Given the description of an element on the screen output the (x, y) to click on. 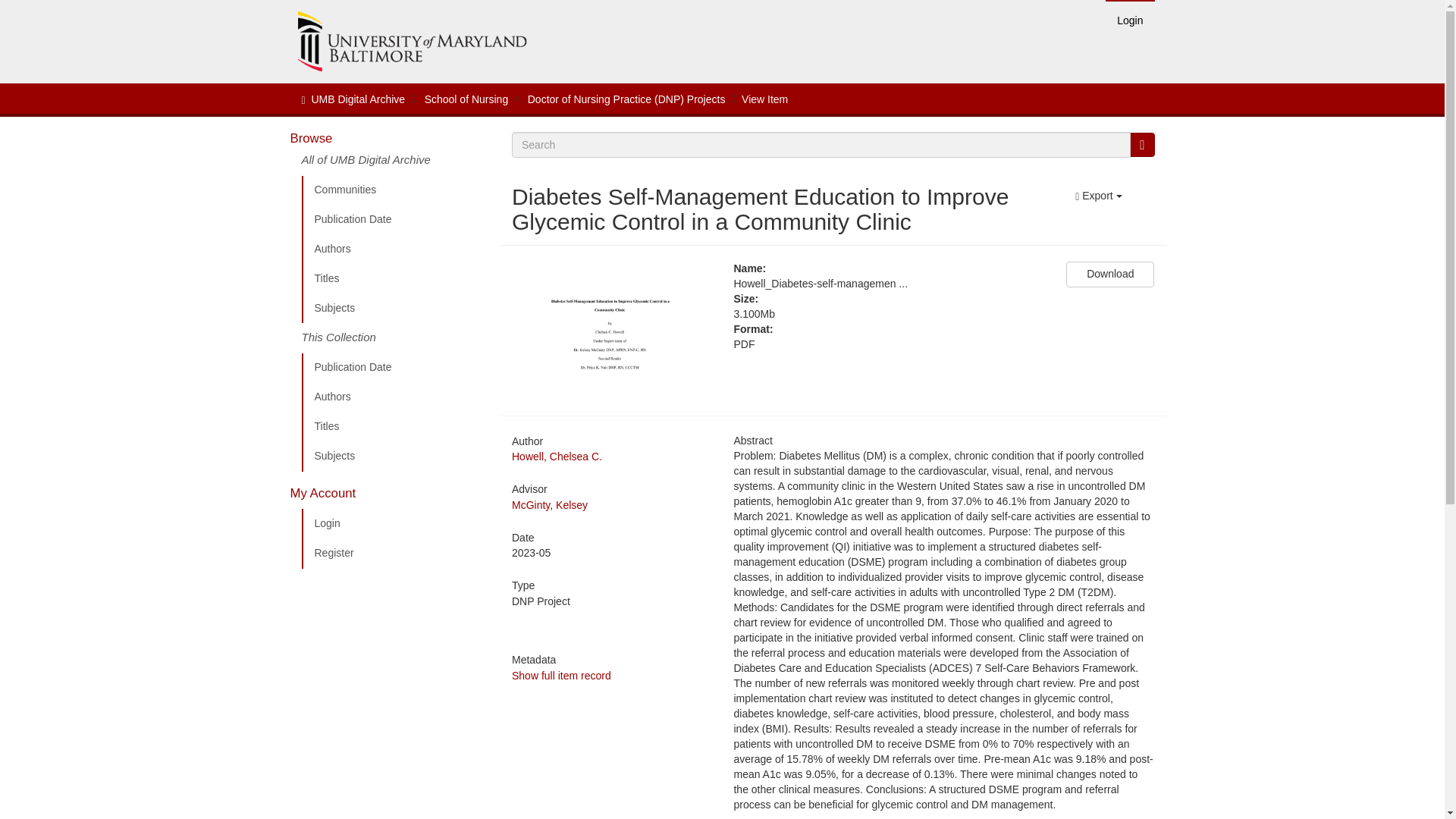
Subjects (395, 456)
Communities (395, 190)
Authors (395, 397)
Subjects (395, 308)
Export (1098, 196)
McGinty, Kelsey (550, 504)
School of Nursing (466, 99)
Publication Date (395, 367)
Titles (395, 278)
Publication Date (395, 219)
